Given the description of an element on the screen output the (x, y) to click on. 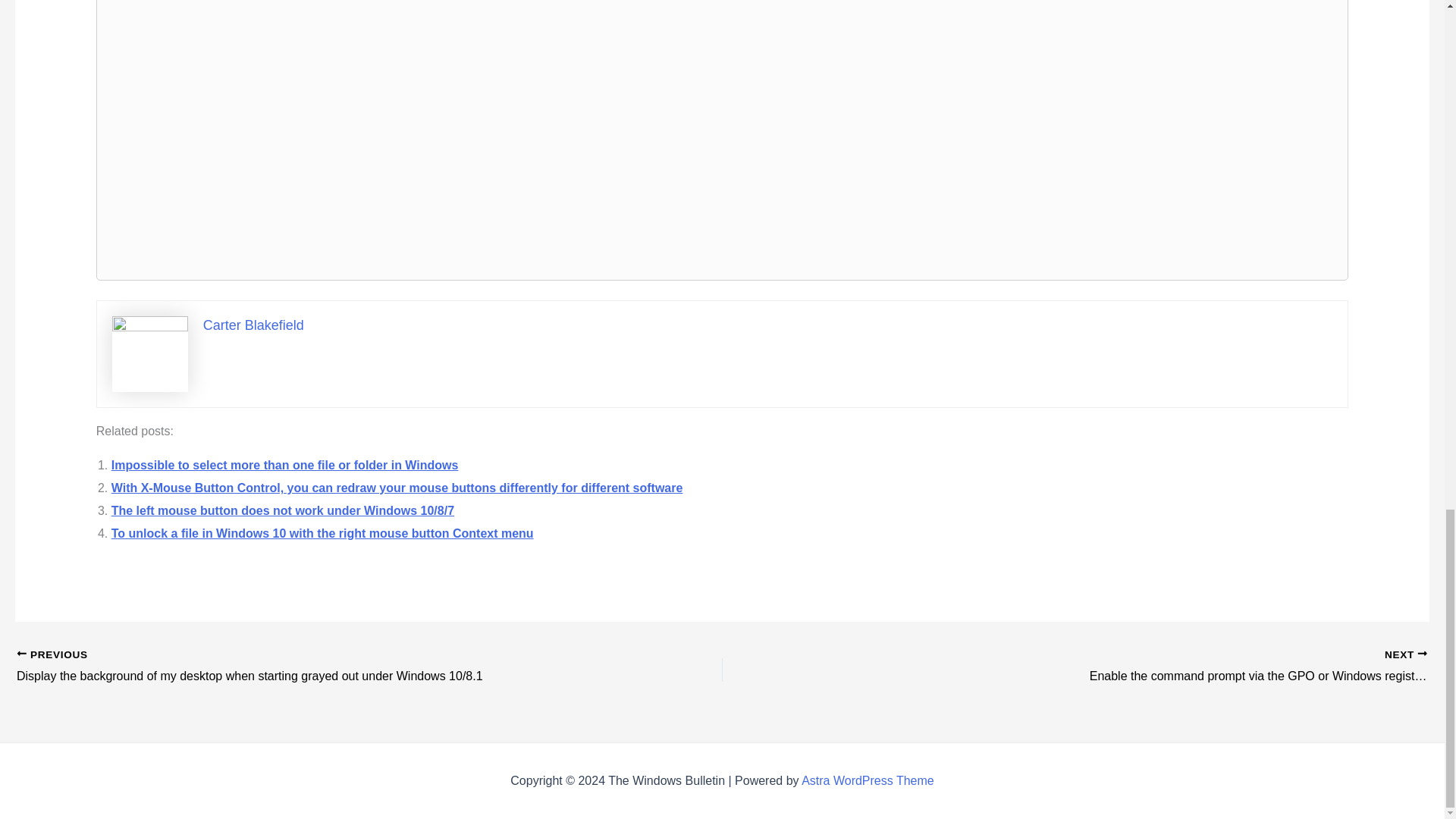
Impossible to select more than one file or folder in Windows (285, 464)
Impossible to select more than one file or folder in Windows (285, 464)
Astra WordPress Theme (868, 780)
Carter Blakefield (253, 324)
